Given the description of an element on the screen output the (x, y) to click on. 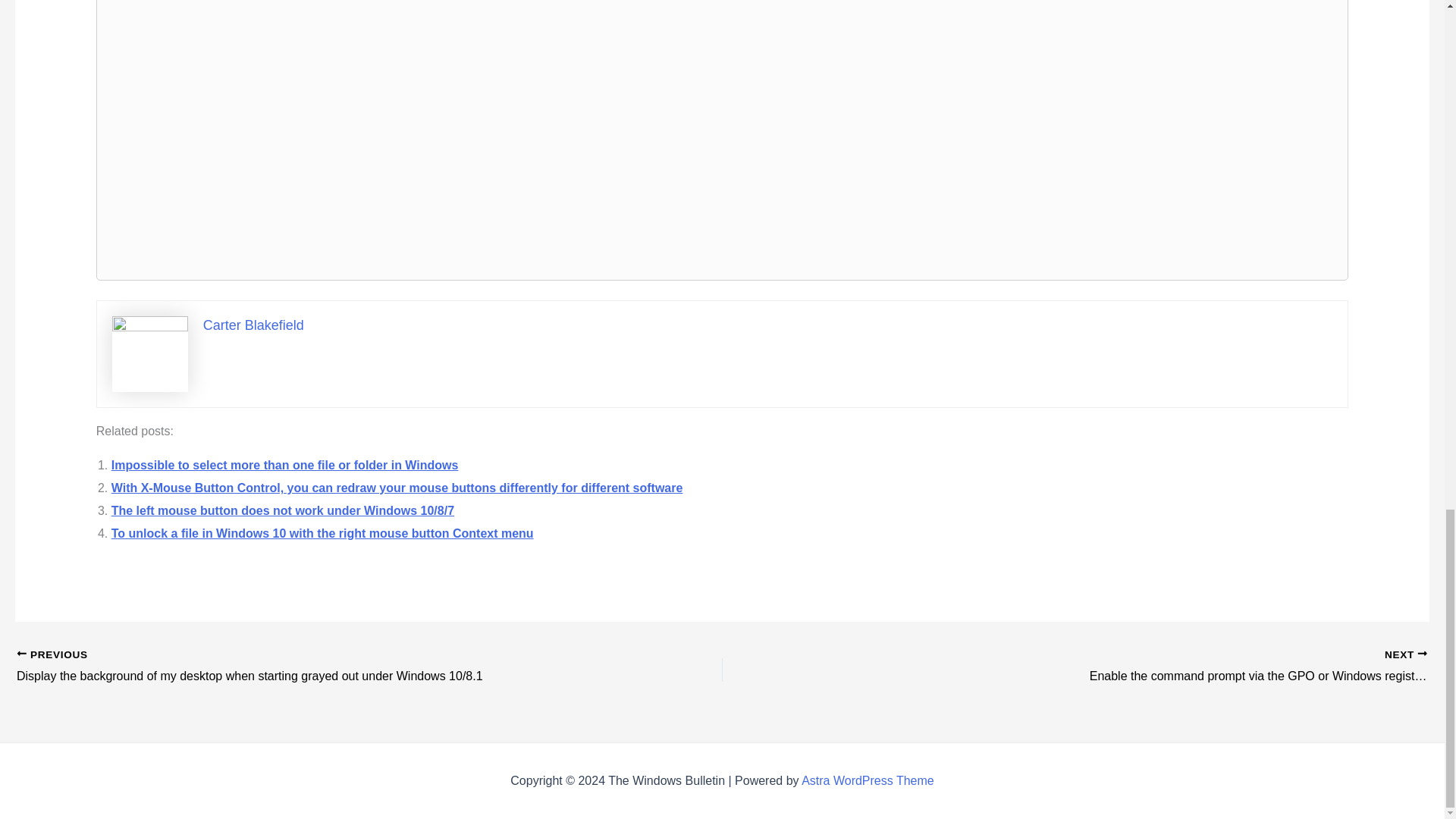
Impossible to select more than one file or folder in Windows (285, 464)
Impossible to select more than one file or folder in Windows (285, 464)
Astra WordPress Theme (868, 780)
Carter Blakefield (253, 324)
